Given the description of an element on the screen output the (x, y) to click on. 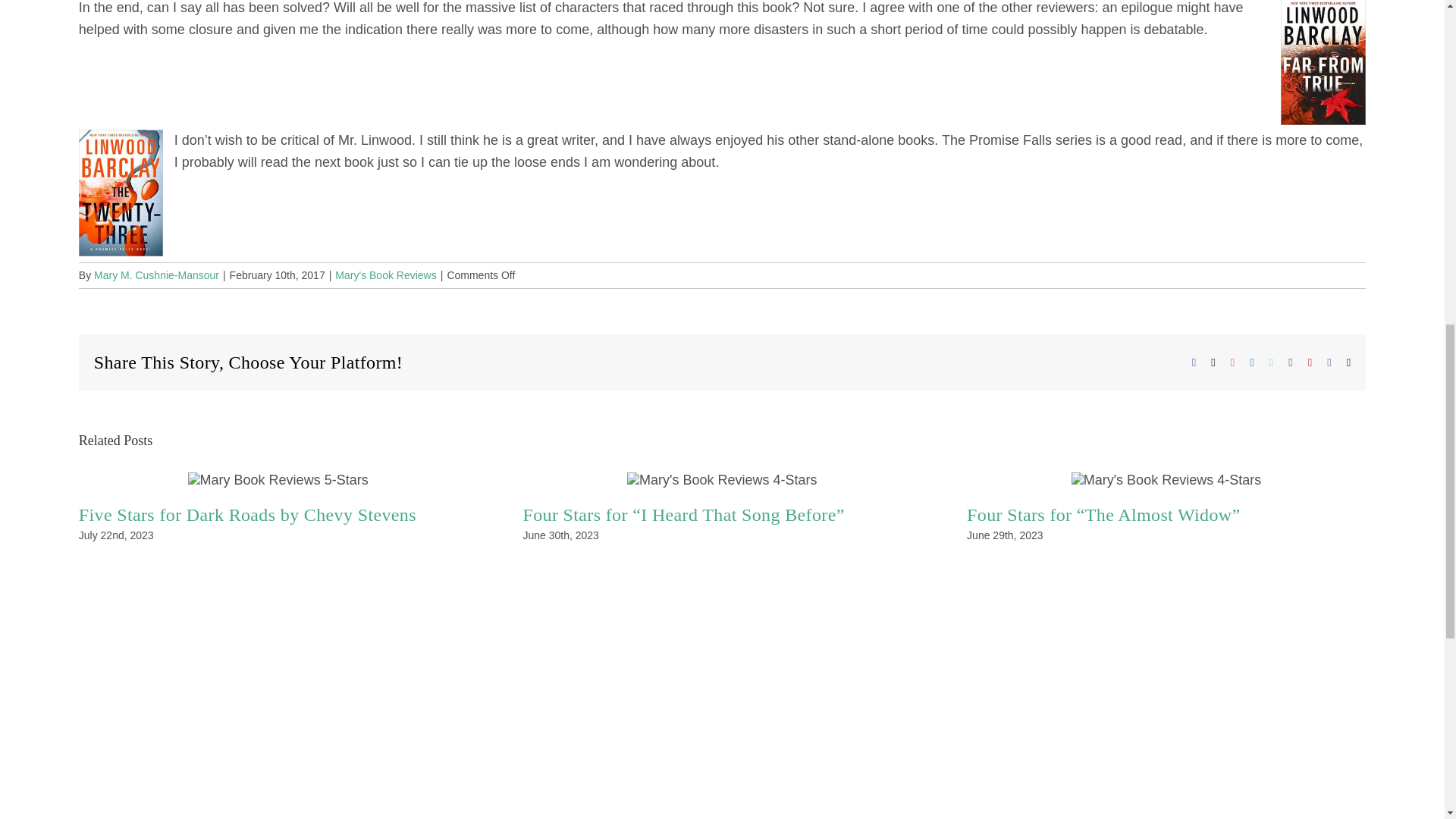
Posts by Mary M. Cushnie-Mansour (156, 275)
Mary M. Cushnie-Mansour (156, 275)
Five Stars for Dark Roads by Chevy Stevens (247, 514)
Mary's Book Reviews (384, 275)
